Given the description of an element on the screen output the (x, y) to click on. 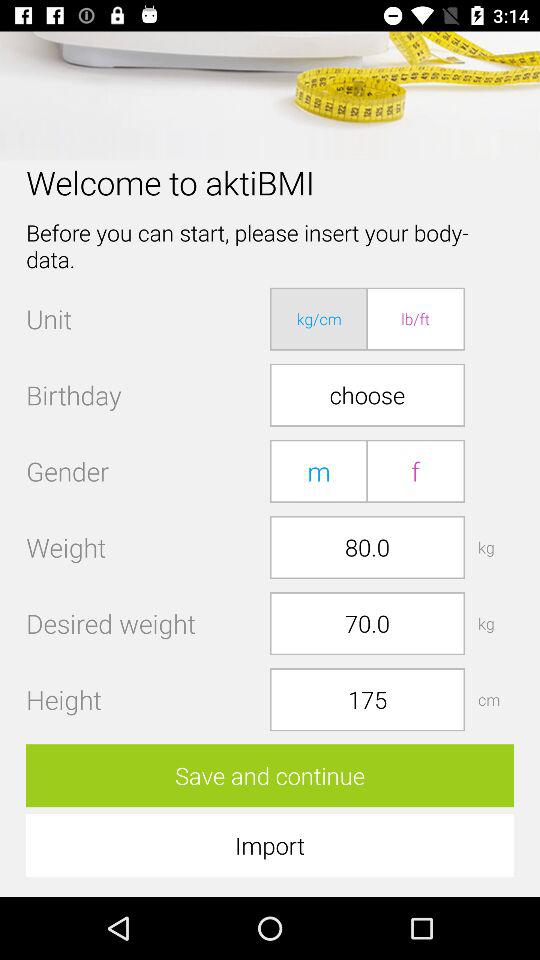
choose the icon to the left of cm icon (367, 699)
